Given the description of an element on the screen output the (x, y) to click on. 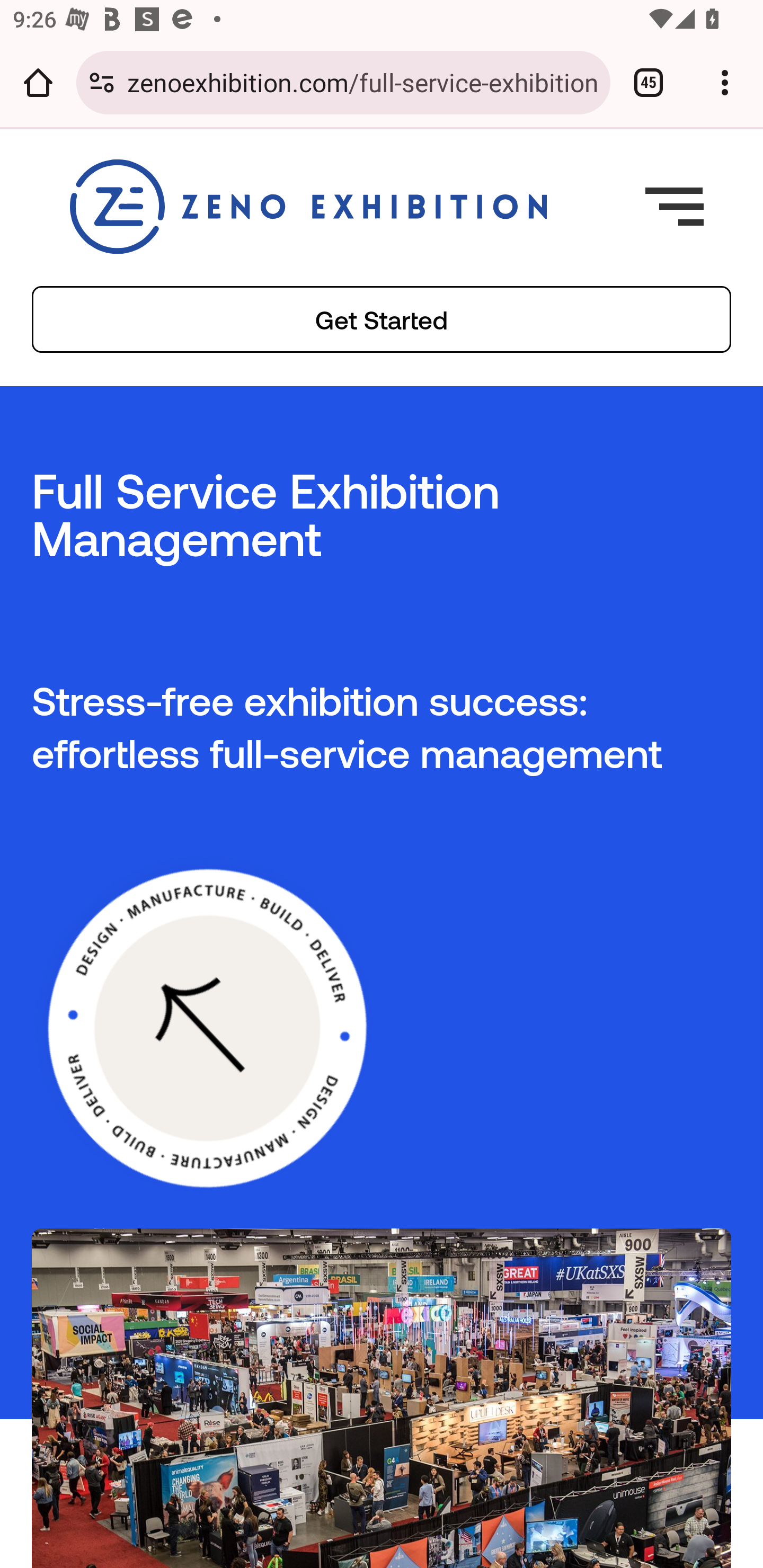
Open the home page (38, 82)
Connection is secure (101, 82)
Switch or close tabs (648, 82)
Customize and control Google Chrome (724, 82)
zenoexhibition (308, 206)
Get Started (381, 318)
